Given the description of an element on the screen output the (x, y) to click on. 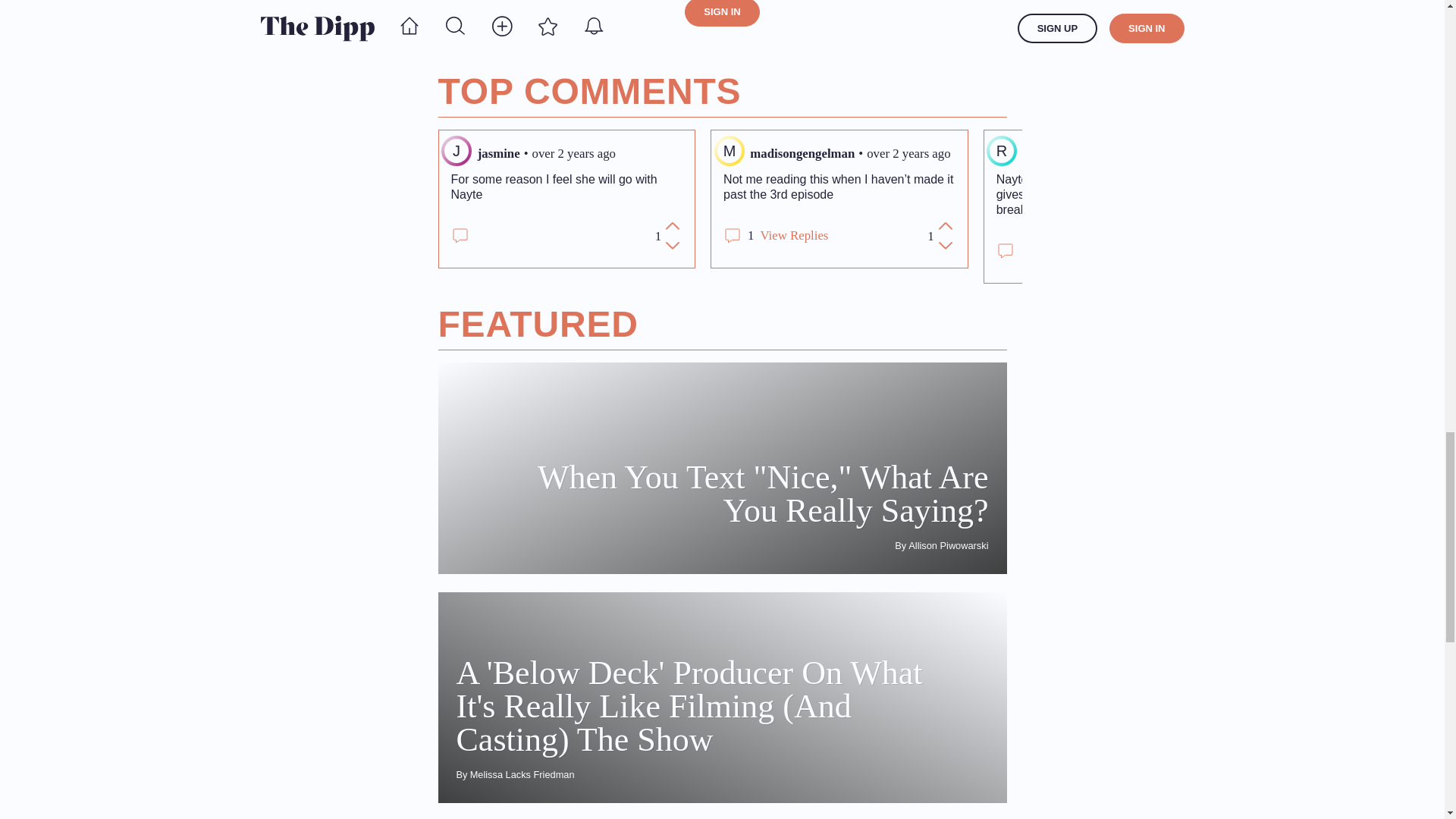
J (456, 150)
over 2 years ago (573, 153)
View Replies (793, 235)
M (729, 150)
madisongengelman (801, 153)
For some reason I feel she will go with Nayte (565, 186)
SIGN IN (721, 13)
over 2 years ago (908, 153)
jasmine (498, 153)
R (1001, 150)
